Given the description of an element on the screen output the (x, y) to click on. 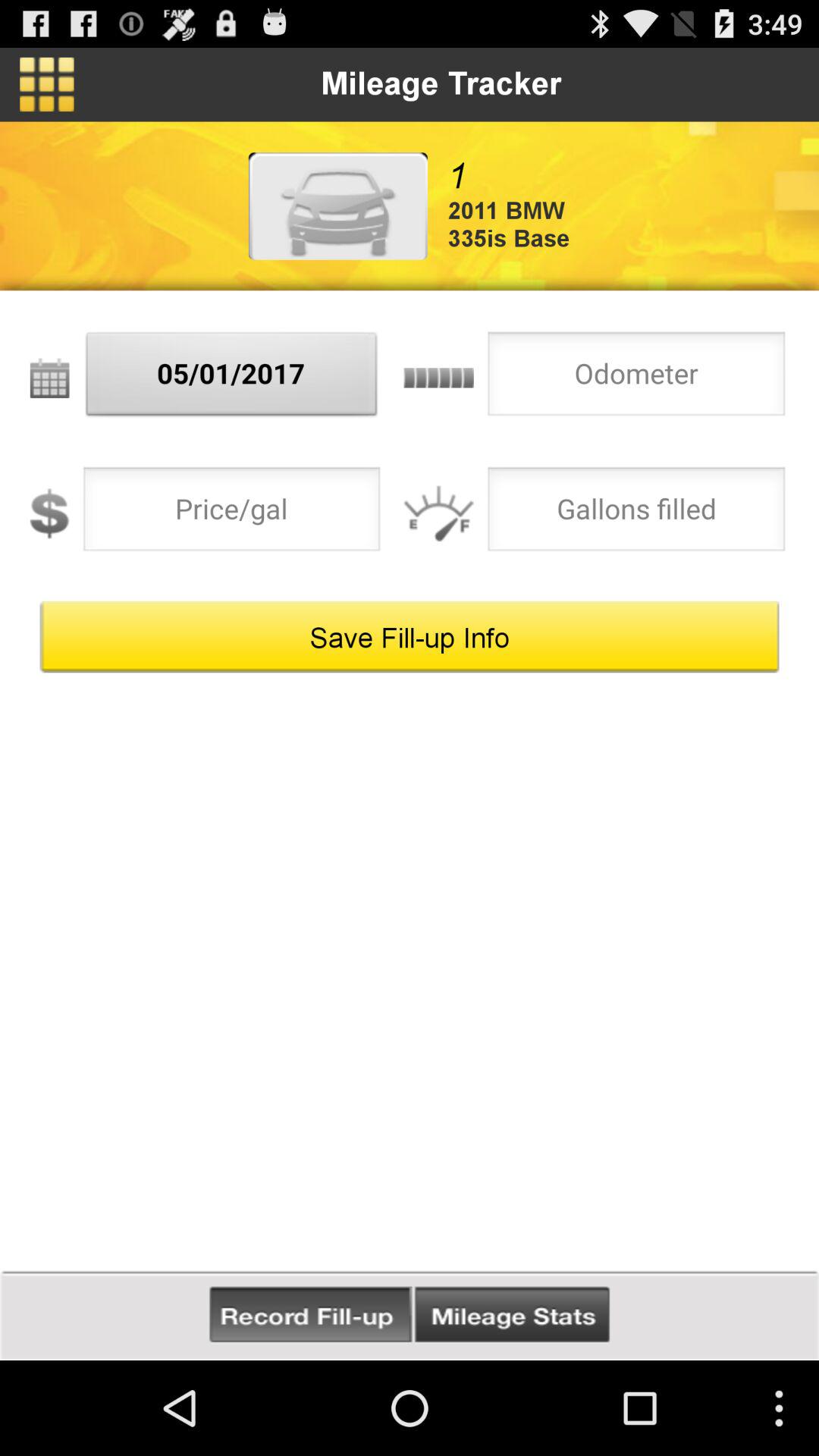
turn on icon above the 05/01/2017 icon (46, 84)
